Given the description of an element on the screen output the (x, y) to click on. 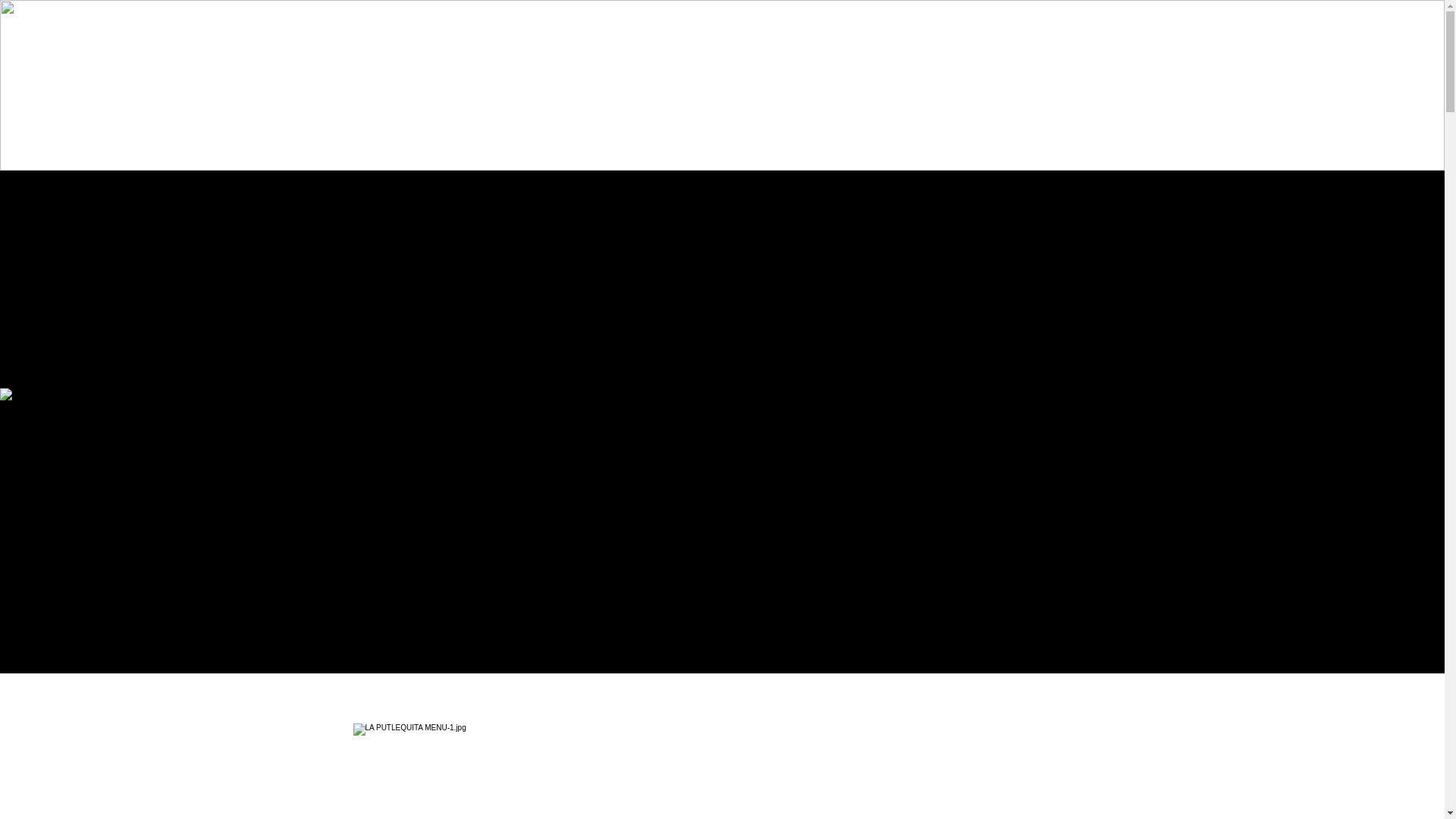
Paper Art (724, 590)
